Given the description of an element on the screen output the (x, y) to click on. 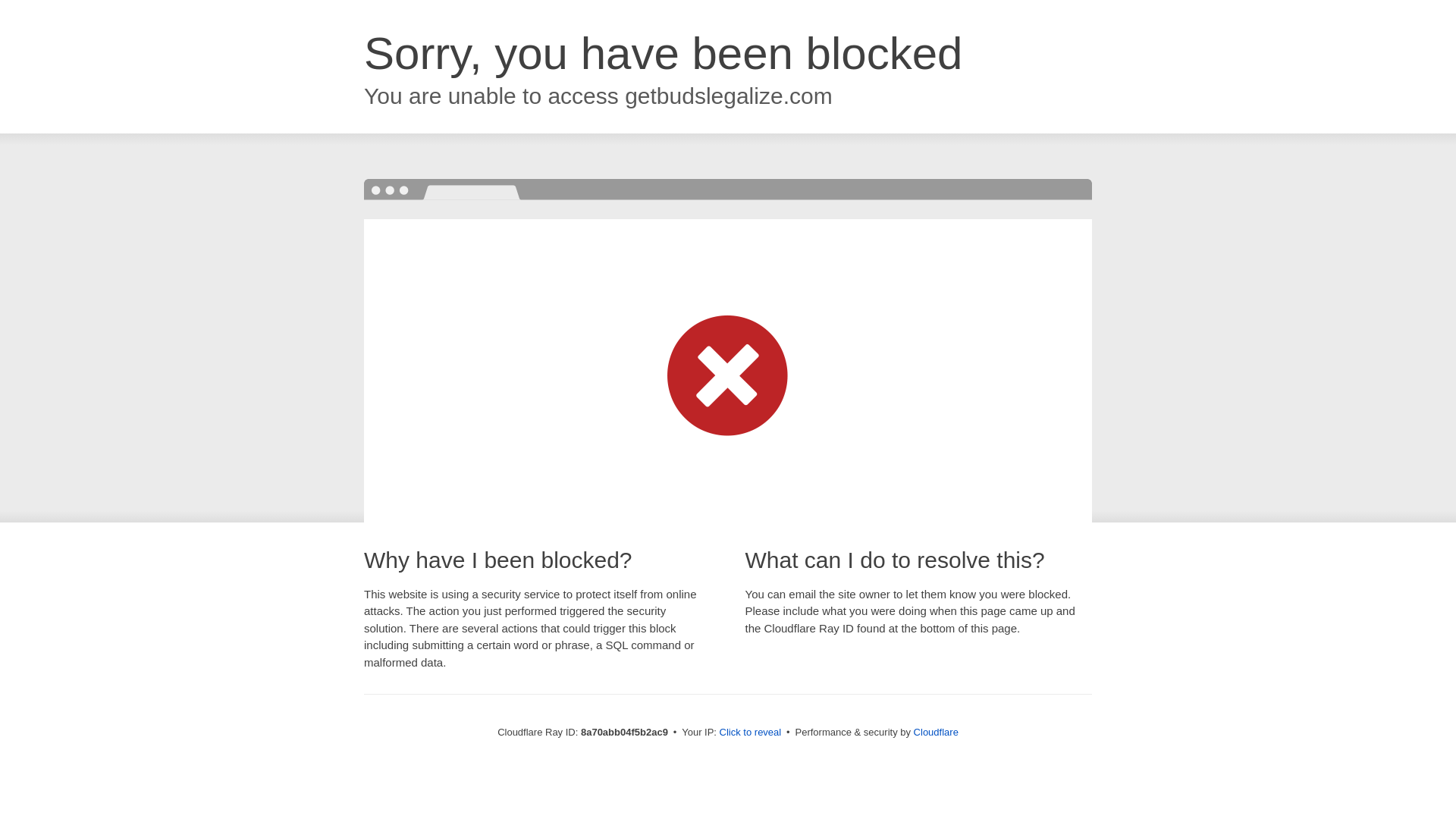
Click to reveal (750, 732)
Cloudflare (936, 731)
